Given the description of an element on the screen output the (x, y) to click on. 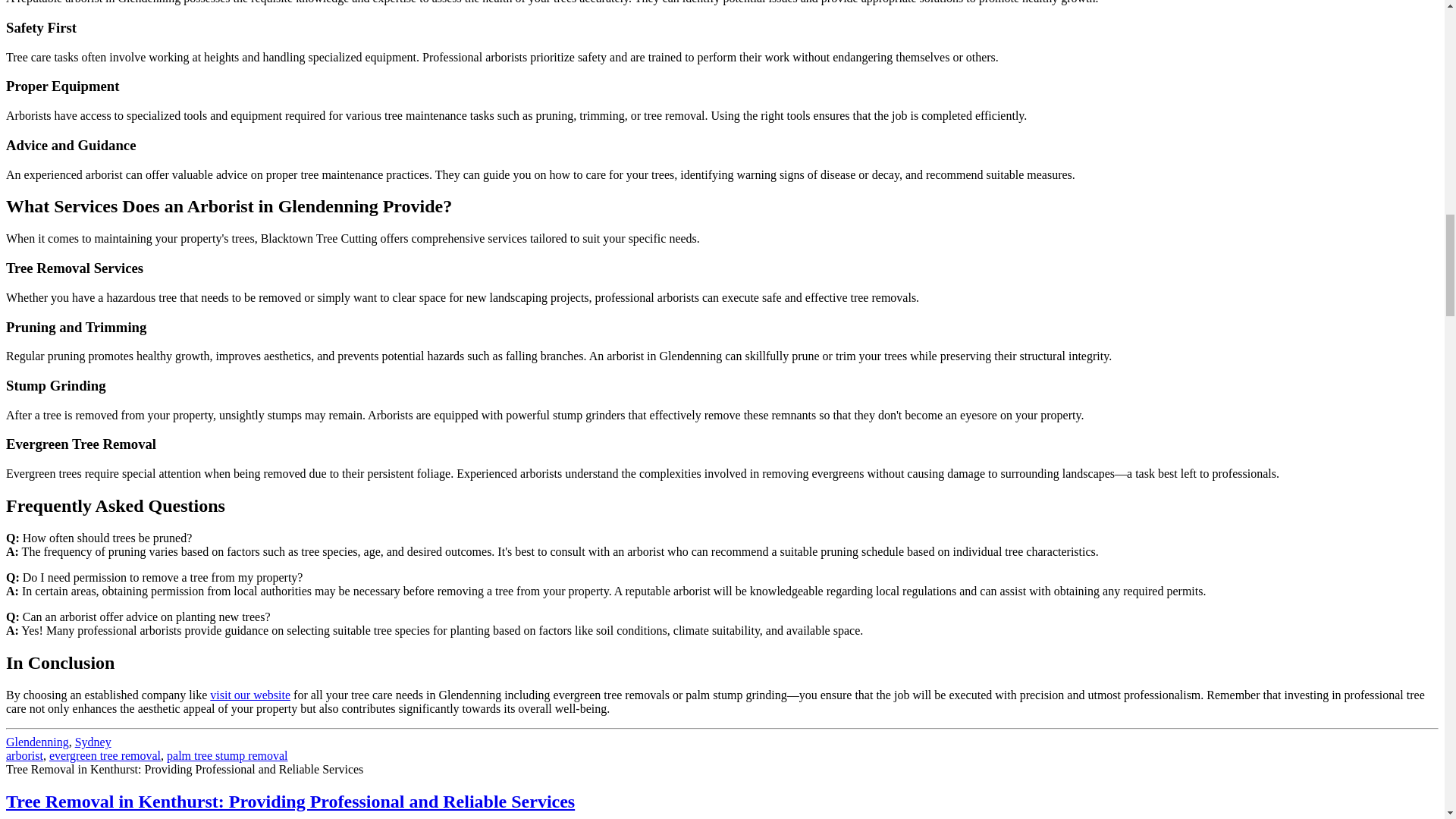
Glendenning (36, 741)
arborist (24, 755)
Sydney (93, 741)
evergreen tree removal (104, 755)
visit our website (249, 694)
palm tree stump removal (227, 755)
